Given the description of an element on the screen output the (x, y) to click on. 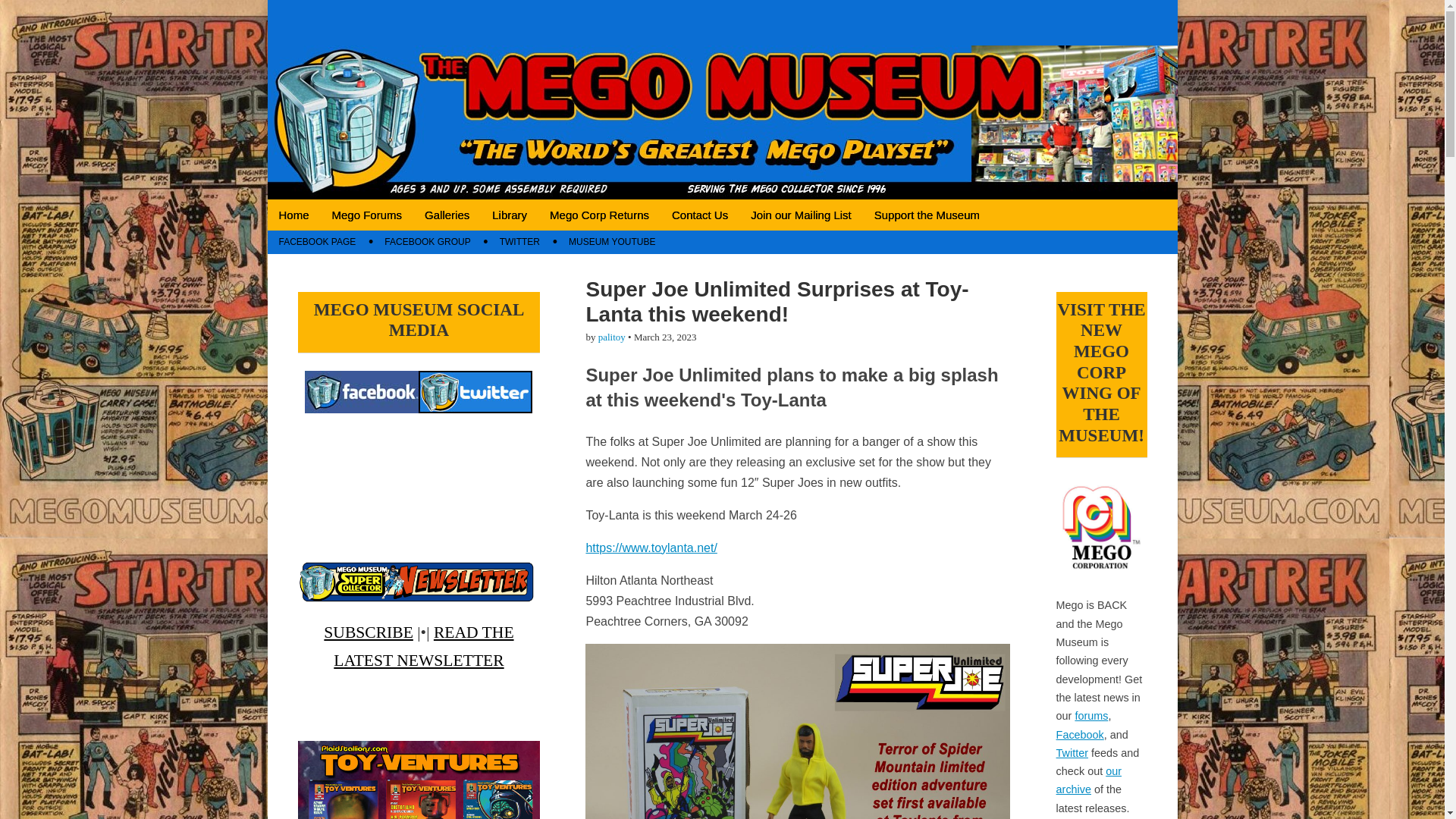
Mego Museum (392, 40)
Support the Museum (927, 214)
MUSEUM YOUTUBE (611, 241)
Library (509, 214)
Mego Museum (392, 40)
Galleries (446, 214)
Home (293, 214)
Mego Corp Returns (599, 214)
FACEBOOK PAGE (316, 241)
TWITTER (519, 241)
palitoy (612, 337)
FACEBOOK GROUP (426, 241)
Posts by palitoy (612, 337)
Mego Forums (366, 214)
